Given the description of an element on the screen output the (x, y) to click on. 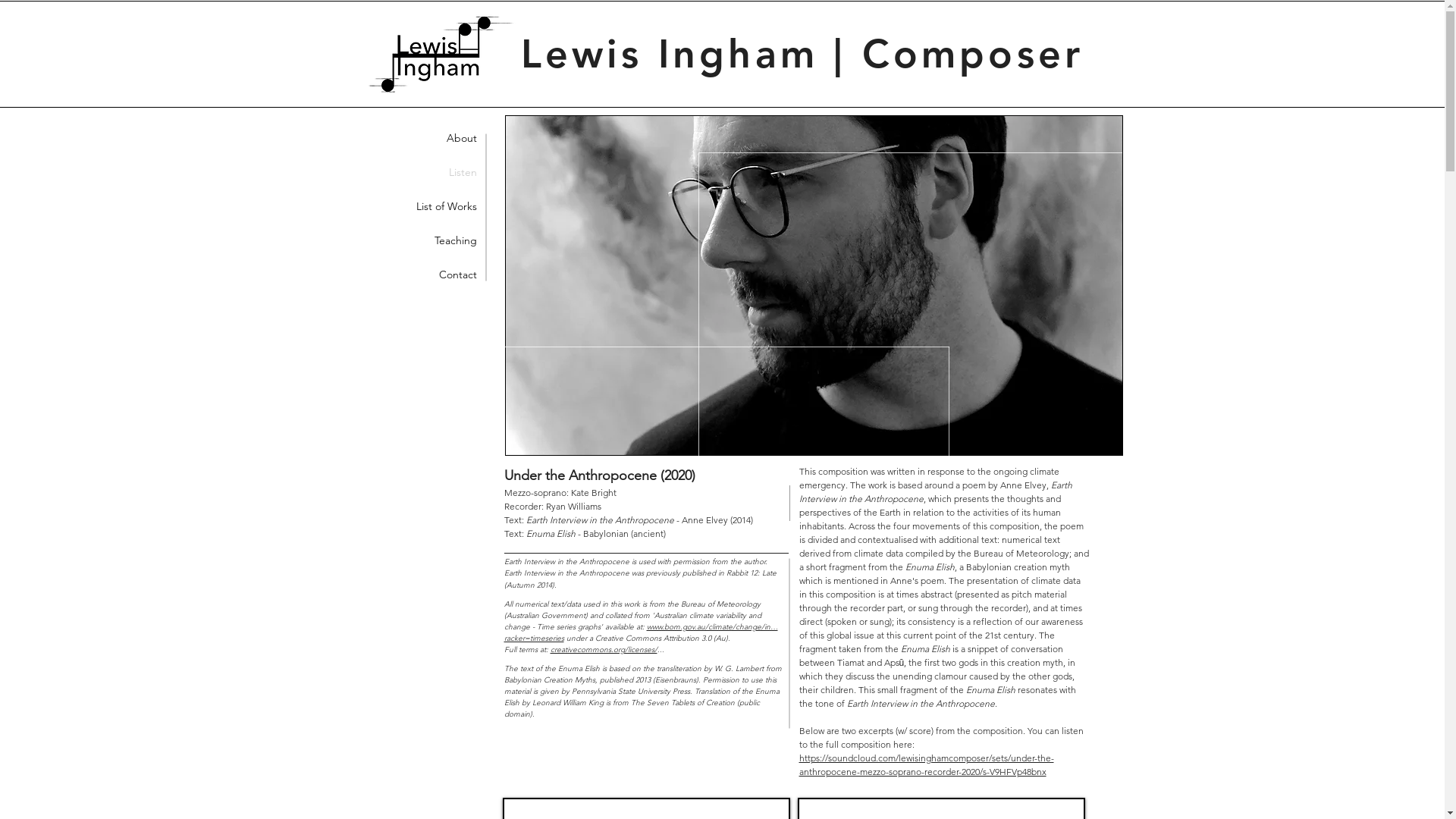
Listen Element type: text (372, 172)
Teaching Element type: text (372, 240)
Lewis Ingham | Composer Element type: text (802, 53)
About Element type: text (372, 138)
creativecommons.org/licenses/ Element type: text (603, 649)
List of Works Element type: text (372, 206)
Contact Element type: text (372, 274)
